Given the description of an element on the screen output the (x, y) to click on. 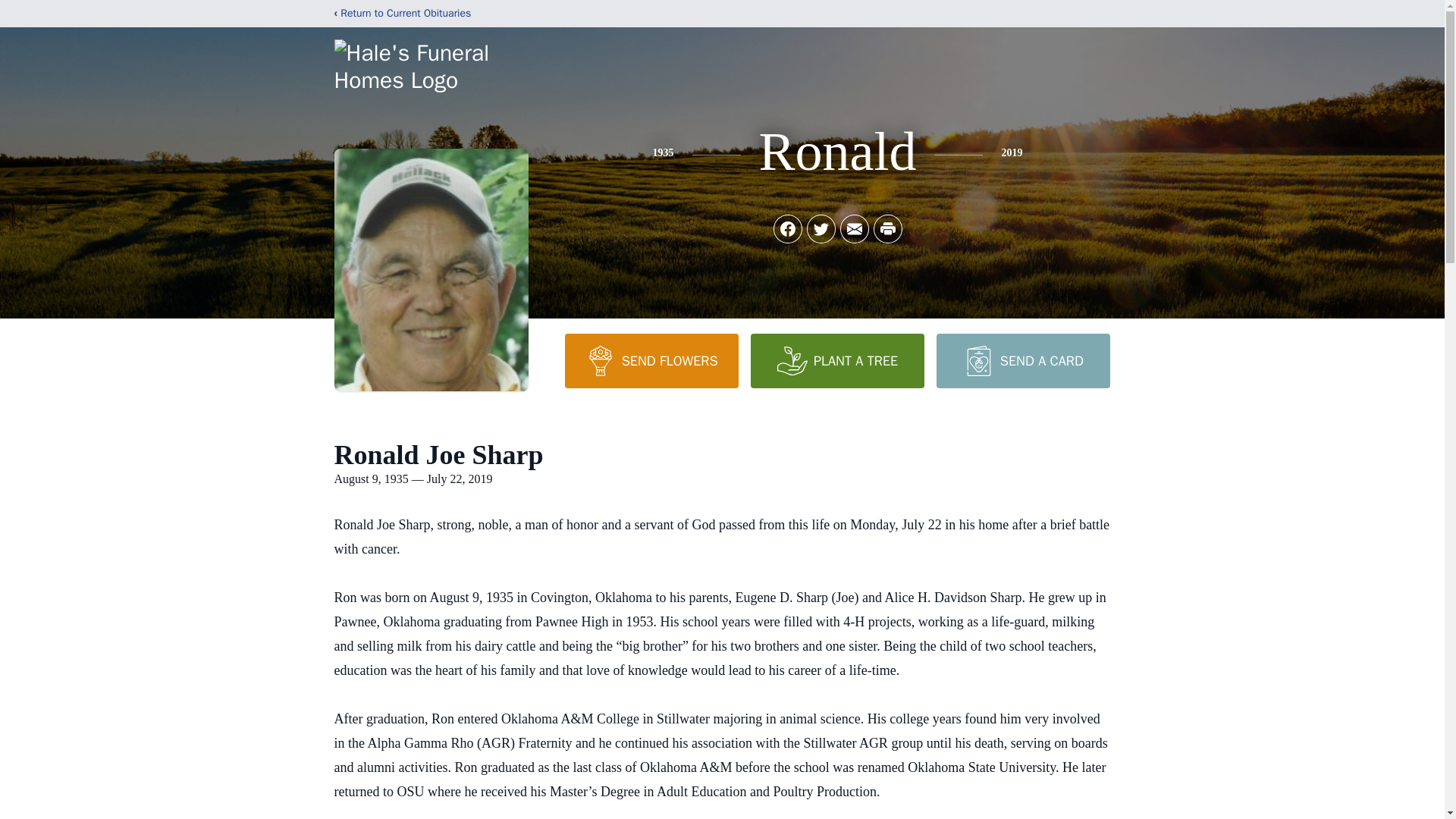
SEND FLOWERS (651, 360)
SEND A CARD (1022, 360)
PLANT A TREE (837, 360)
